Given the description of an element on the screen output the (x, y) to click on. 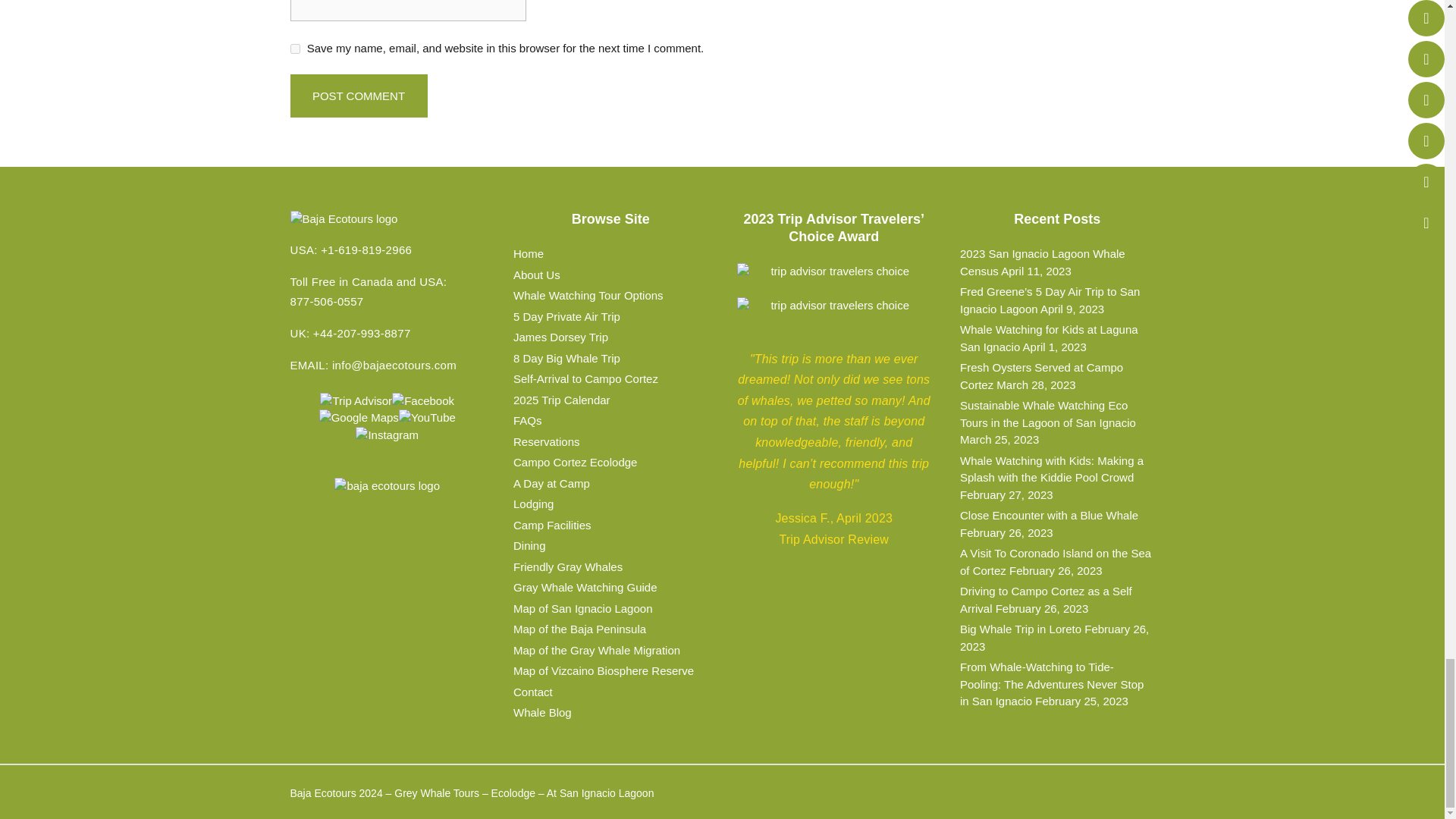
Post Comment (357, 95)
yes (294, 49)
